Given the description of an element on the screen output the (x, y) to click on. 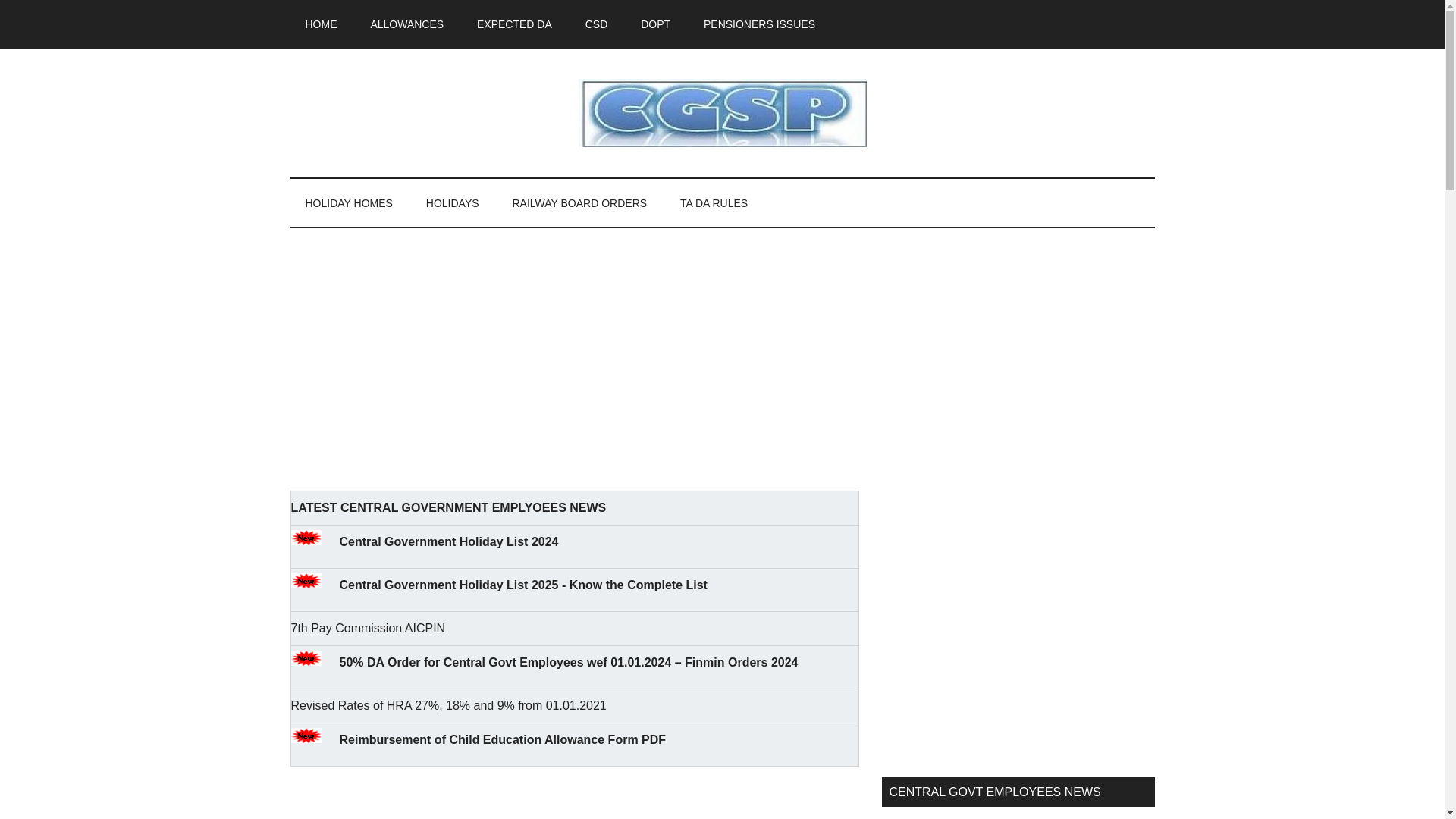
PENSIONERS ISSUES (758, 24)
RAILWAY BOARD ORDERS (579, 203)
HOLIDAYS (452, 203)
ALLOWANCES (406, 24)
Advertisement (574, 364)
Reimbursement of Child Education Allowance Form PDF (502, 739)
Advertisement (1017, 634)
CENTRAL GOVT EMPLOYEES NEWS (721, 112)
EXPECTED DA (514, 24)
